Given the description of an element on the screen output the (x, y) to click on. 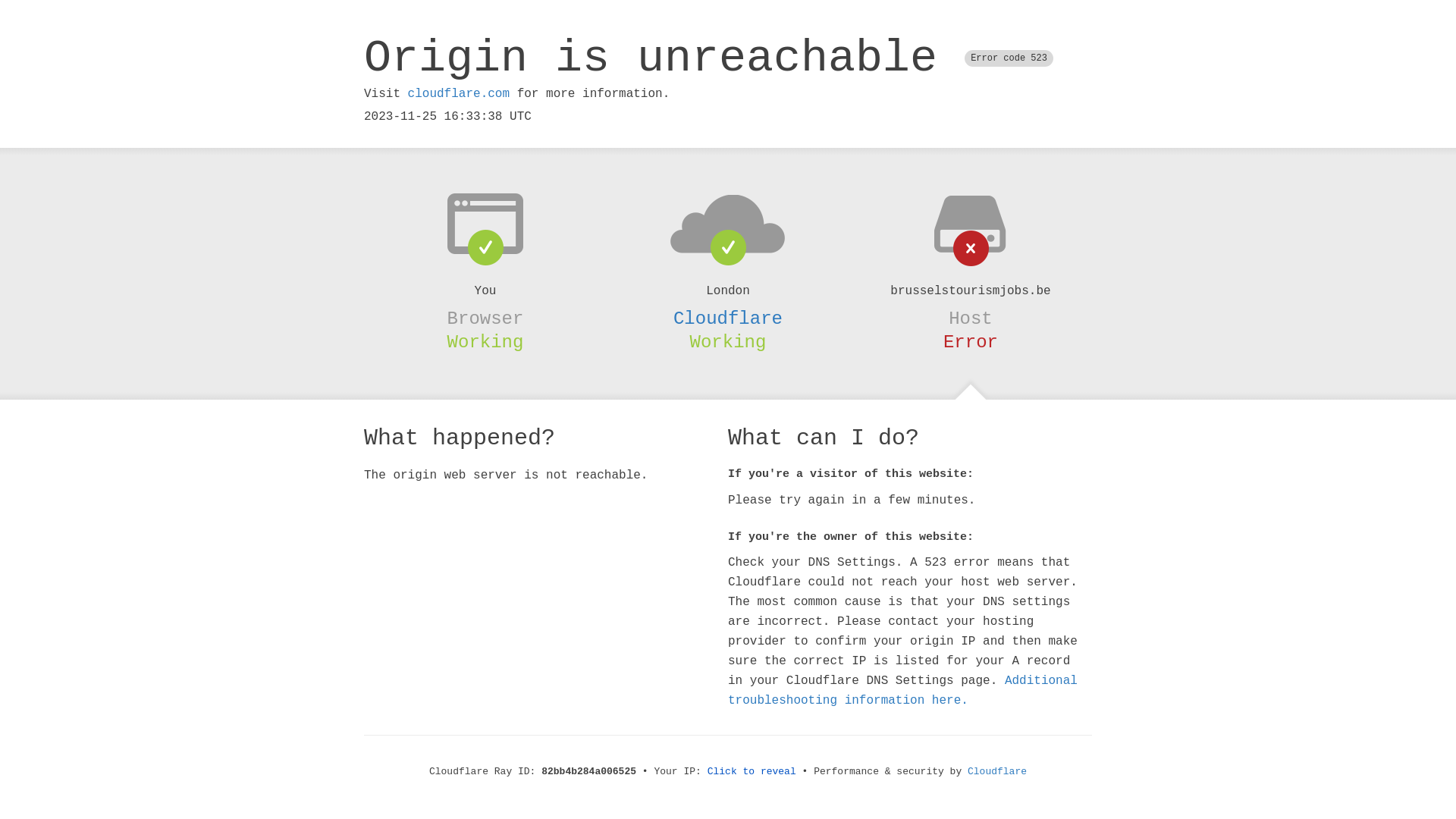
Cloudflare Element type: text (727, 318)
Click to reveal Element type: text (751, 771)
Cloudflare Element type: text (996, 771)
cloudflare.com Element type: text (458, 93)
Additional troubleshooting information here. Element type: text (902, 690)
